Given the description of an element on the screen output the (x, y) to click on. 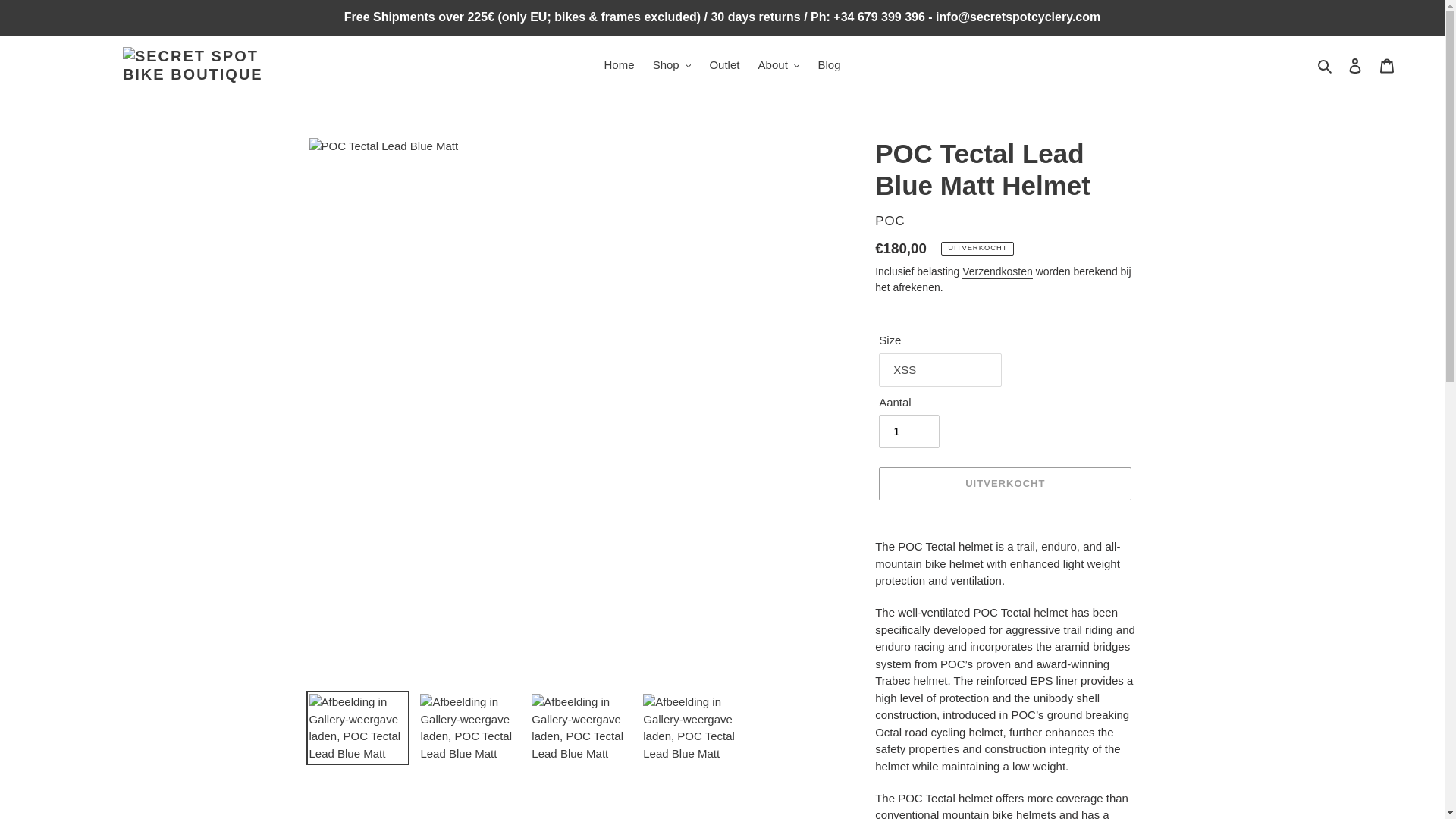
Home (618, 65)
1 (909, 430)
Shop (671, 65)
